Given the description of an element on the screen output the (x, y) to click on. 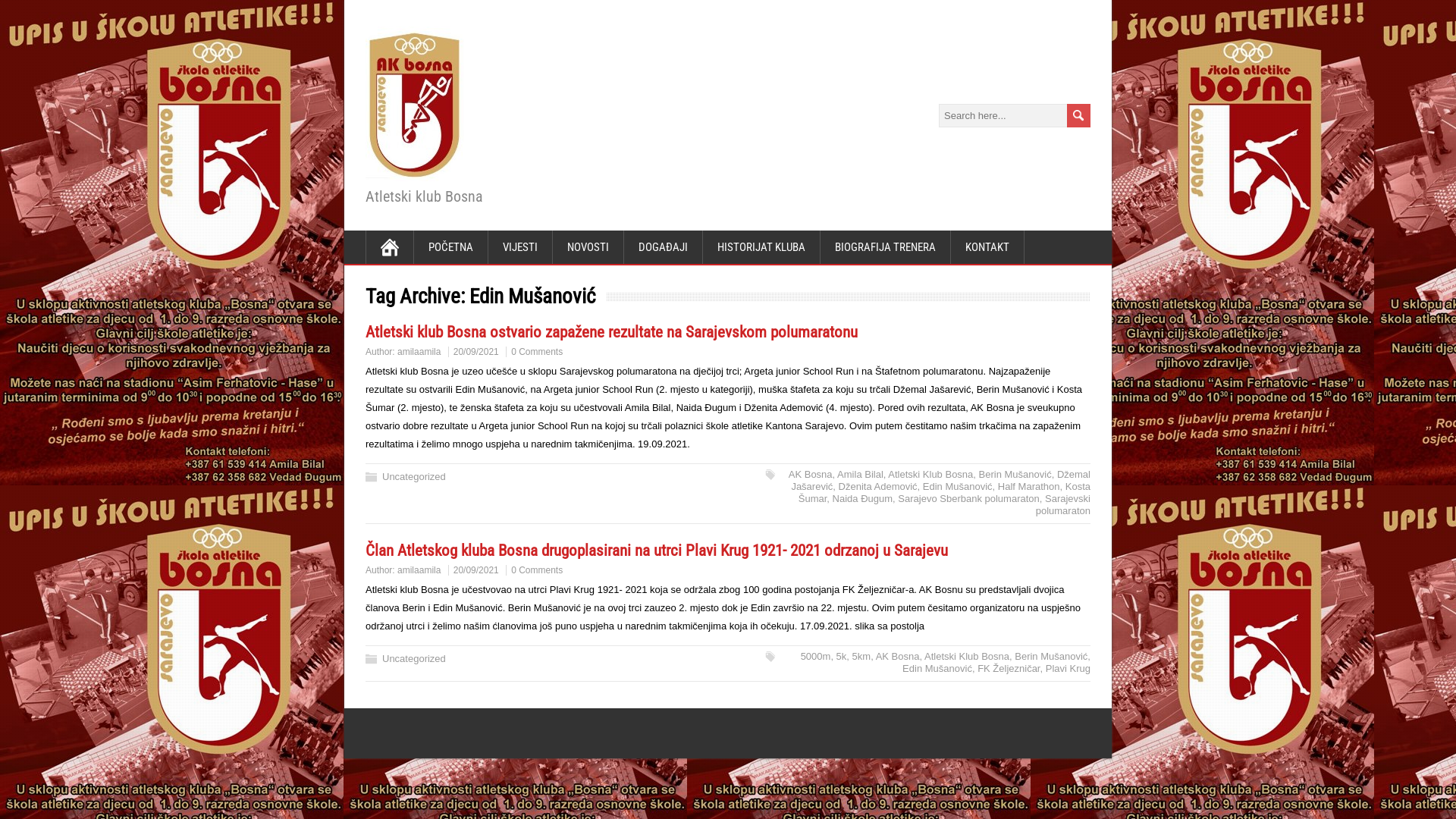
0 Comments Element type: text (536, 569)
5k Element type: text (841, 656)
5000m Element type: text (815, 656)
VIJESTI Element type: text (520, 246)
Uncategorized Element type: text (413, 658)
Atletski Klub Bosna Element type: text (930, 474)
0 Comments Element type: text (536, 351)
Uncategorized Element type: text (413, 476)
Sarajevo Sberbank polumaraton Element type: text (967, 498)
KONTAKT Element type: text (987, 246)
NOVOSTI Element type: text (588, 246)
amilaamila Element type: text (418, 351)
BIOGRAFIJA TRENERA Element type: text (885, 246)
Plavi Krug Element type: text (1067, 668)
Atletski Klub Bosna Element type: text (966, 656)
20/09/2021 Element type: text (475, 351)
amilaamila Element type: text (418, 569)
20/09/2021 Element type: text (475, 569)
5km Element type: text (861, 656)
Half Marathon Element type: text (1028, 486)
AK Bosna Element type: text (810, 474)
Sarajevski polumaraton Element type: text (1062, 504)
HISTORIJAT KLUBA Element type: text (761, 246)
Amila Bilal Element type: text (860, 474)
AK Bosna Element type: text (897, 656)
